Given the description of an element on the screen output the (x, y) to click on. 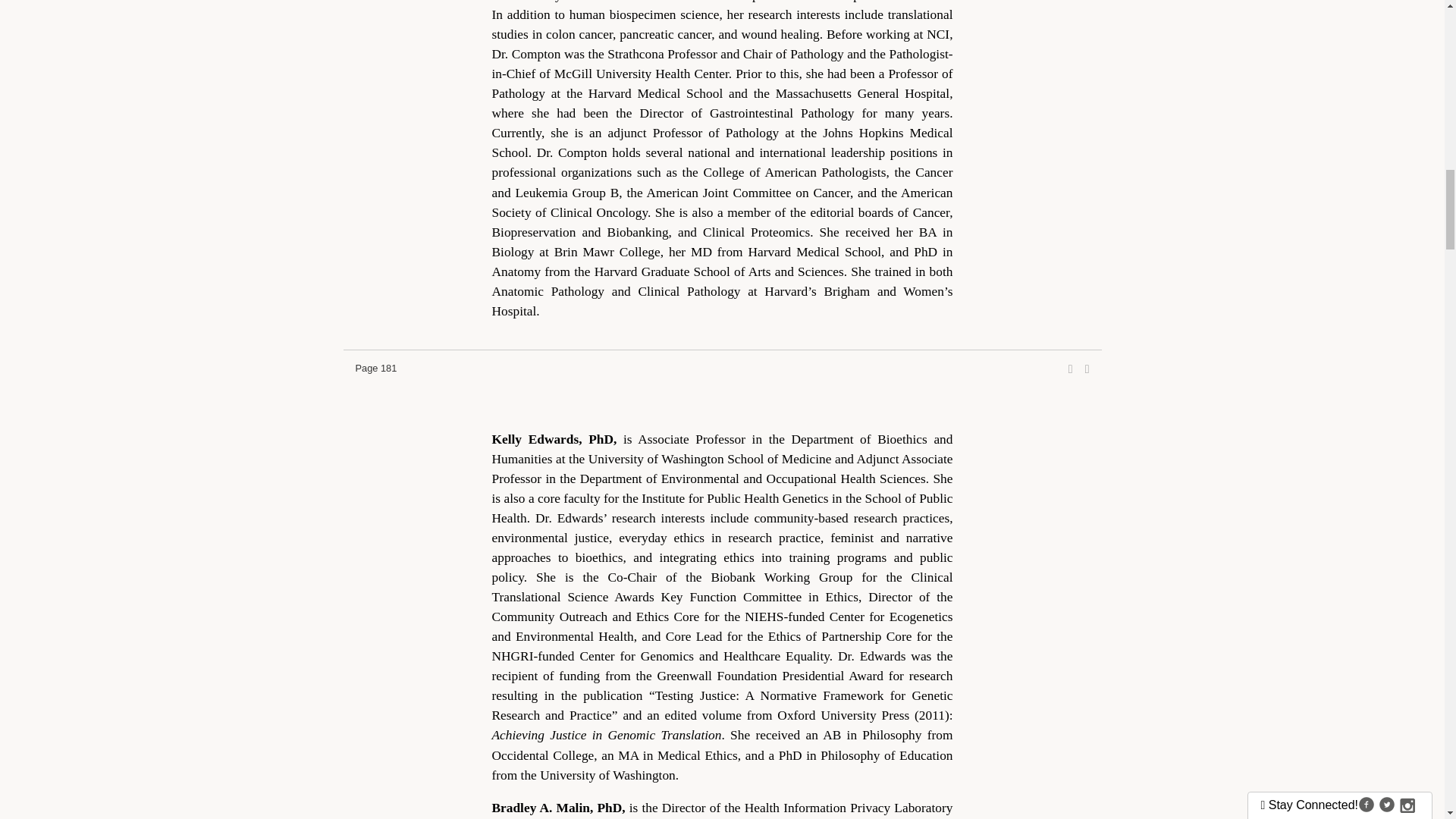
Share this page (1070, 368)
Cite this page (1086, 368)
